Given the description of an element on the screen output the (x, y) to click on. 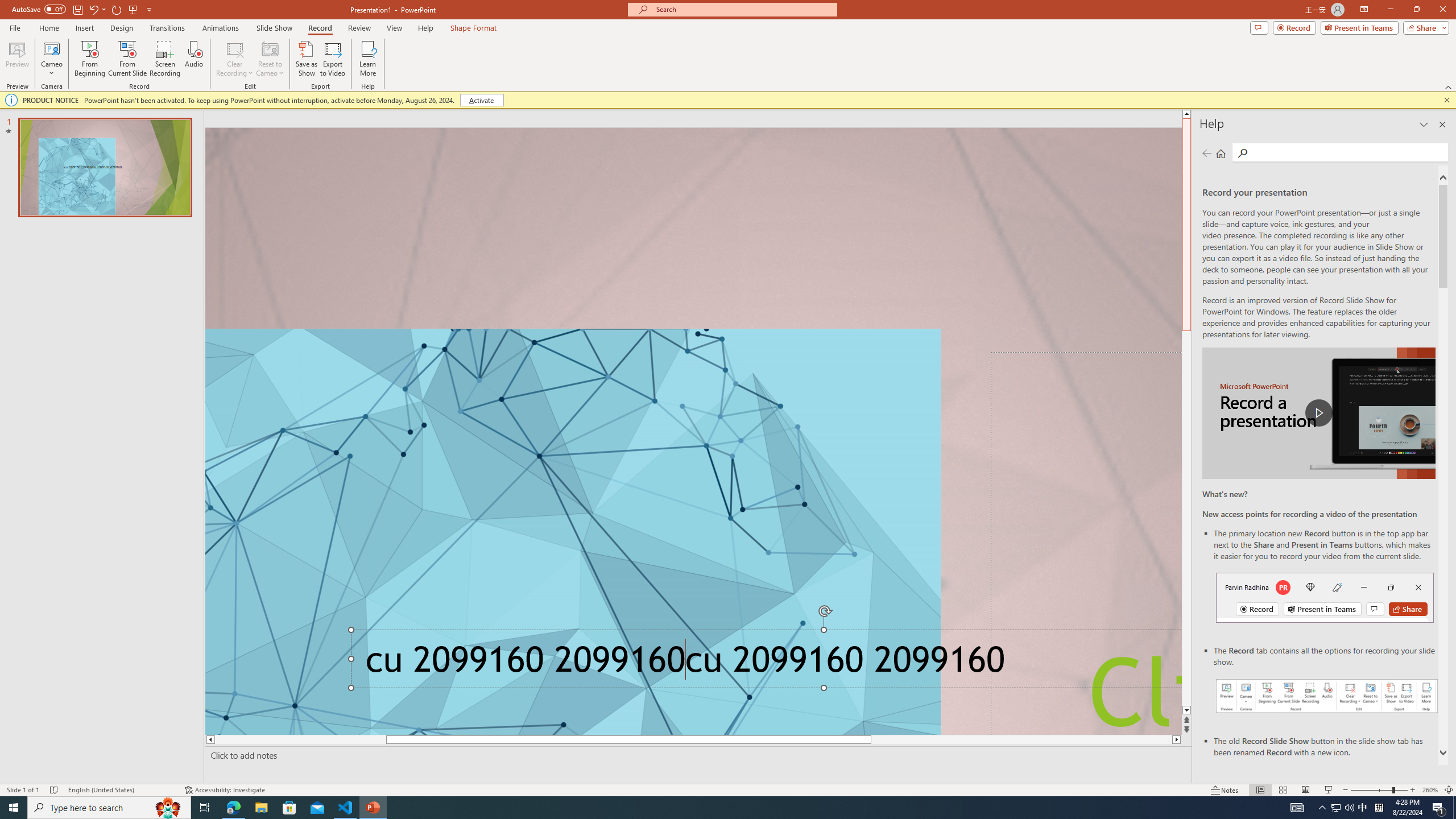
Close this message (1446, 99)
